Given the description of an element on the screen output the (x, y) to click on. 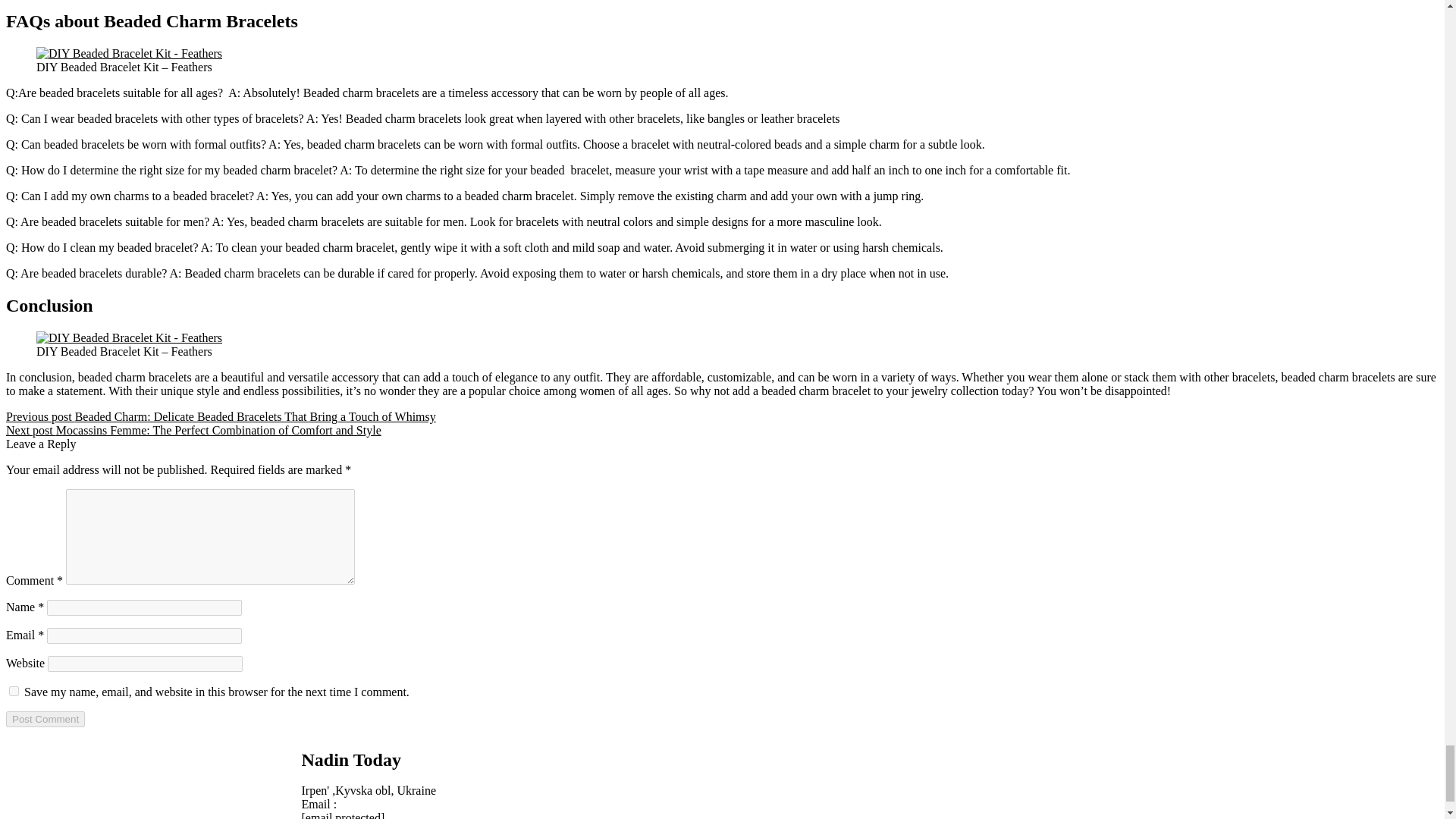
Post Comment (44, 719)
yes (13, 691)
